Given the description of an element on the screen output the (x, y) to click on. 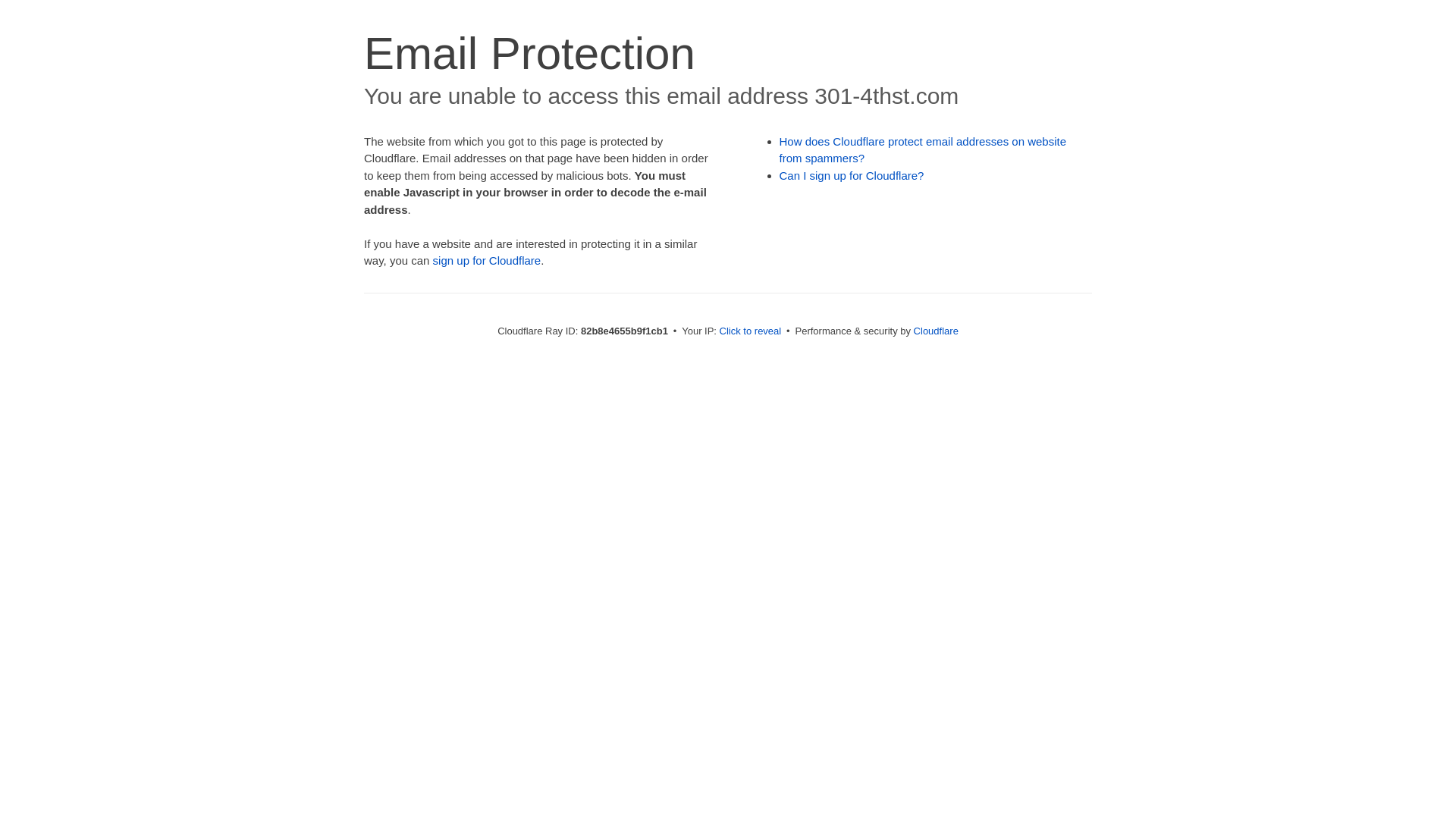
Click to reveal Element type: text (750, 330)
sign up for Cloudflare Element type: text (487, 260)
Cloudflare Element type: text (935, 330)
Can I sign up for Cloudflare? Element type: text (851, 175)
